Given the description of an element on the screen output the (x, y) to click on. 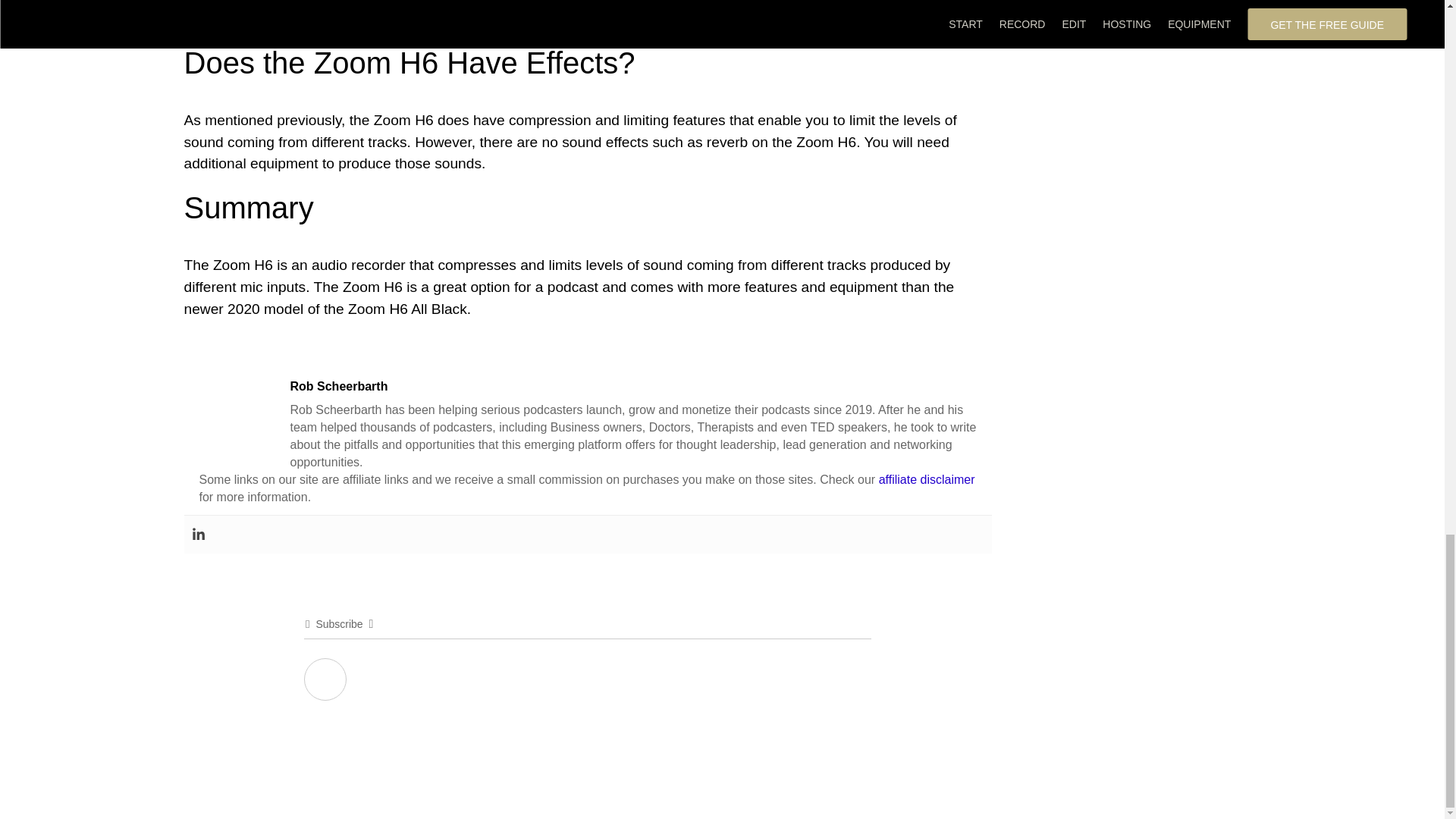
5 Best Podcast Recorders For Capturing High-Quality Audio (434, 18)
Linkedin (197, 534)
affiliate disclaimer (927, 479)
Rob Scheerbarth (338, 384)
